Given the description of an element on the screen output the (x, y) to click on. 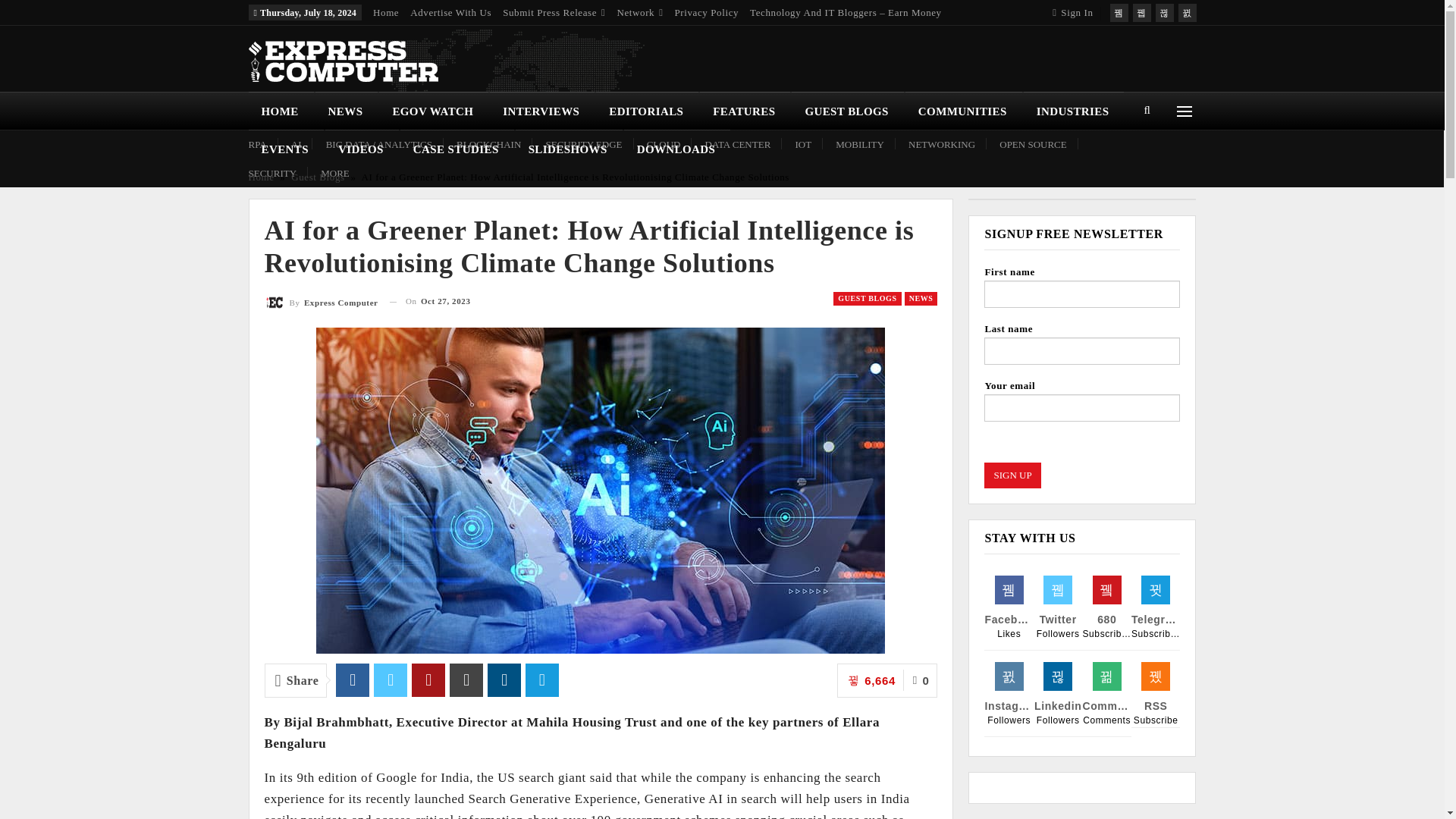
Home (385, 12)
BLOCKCHAIN (489, 143)
DATA CENTER (737, 143)
Advertise With Us (451, 12)
CLOUD (663, 143)
Submit Press Release (553, 12)
AI (296, 143)
SECURITY EDGE (584, 143)
HOME (281, 111)
Sign Up (1012, 475)
MORE (334, 172)
Browse Author Articles (320, 301)
IOT (802, 143)
Privacy Policy (707, 12)
NETWORKING (941, 143)
